Given the description of an element on the screen output the (x, y) to click on. 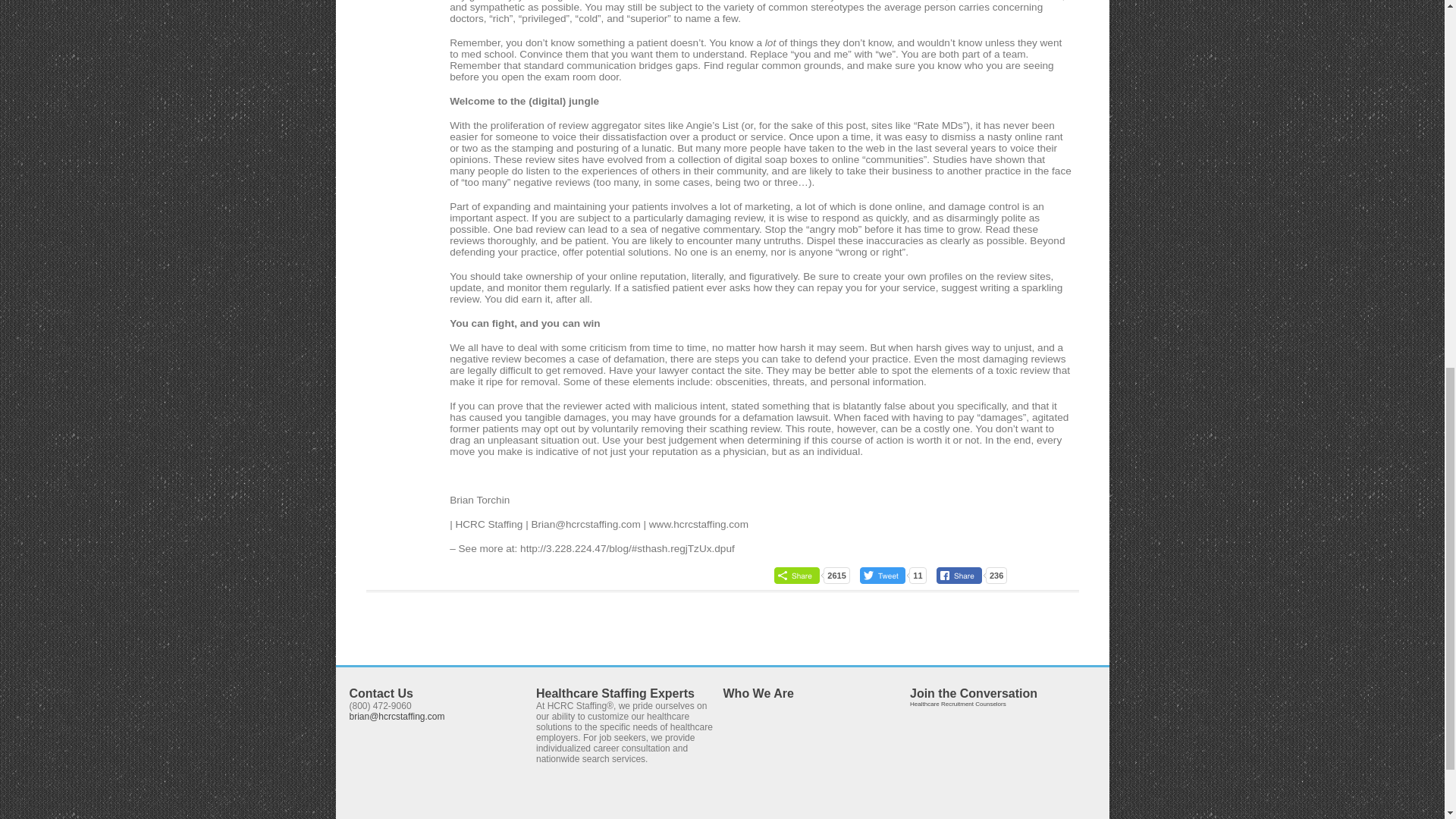
Healthcare Recruitment Counselors (958, 704)
